Given the description of an element on the screen output the (x, y) to click on. 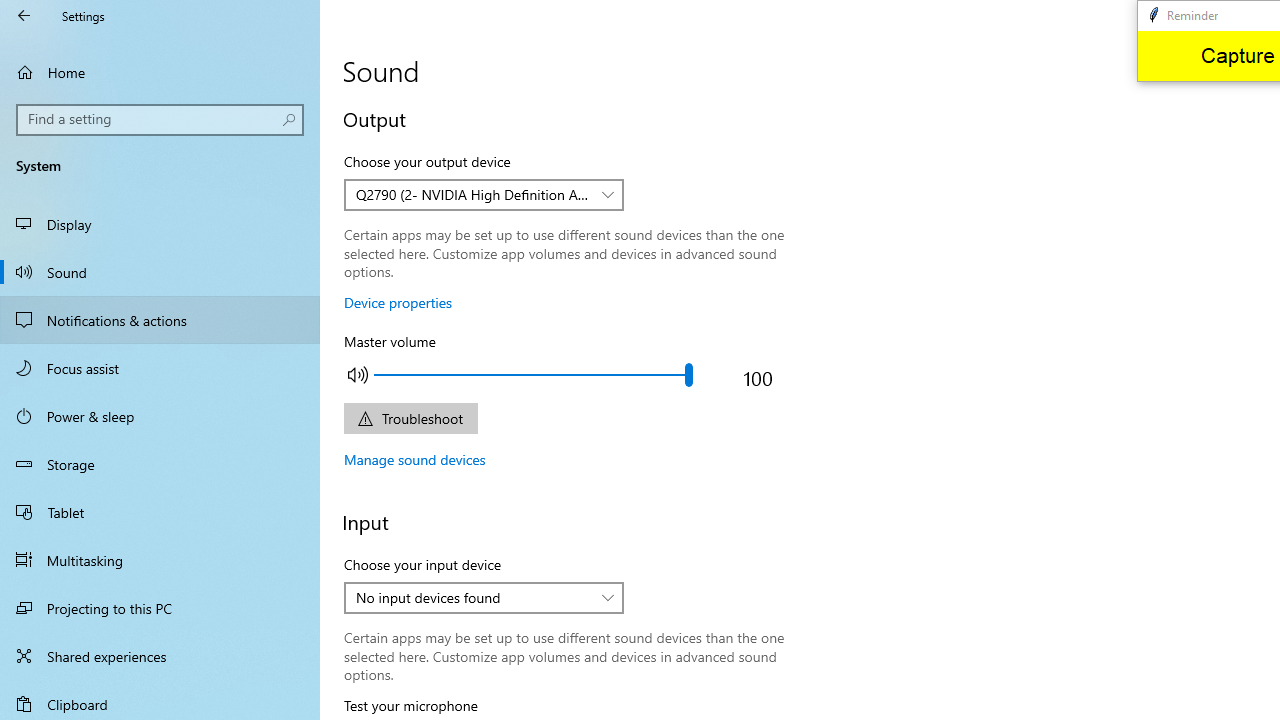
Projecting to this PC (160, 607)
Notifications & actions (160, 319)
Shared experiences (160, 655)
Storage (160, 463)
Display (160, 223)
Mute master volume (358, 374)
Focus assist (160, 367)
Adjust the master output volume (532, 374)
No input devices found (473, 597)
Tablet (160, 511)
Sound (160, 271)
Search box, Find a setting (160, 119)
Power & sleep (160, 415)
Multitasking (160, 559)
Choose your input device (484, 597)
